Given the description of an element on the screen output the (x, y) to click on. 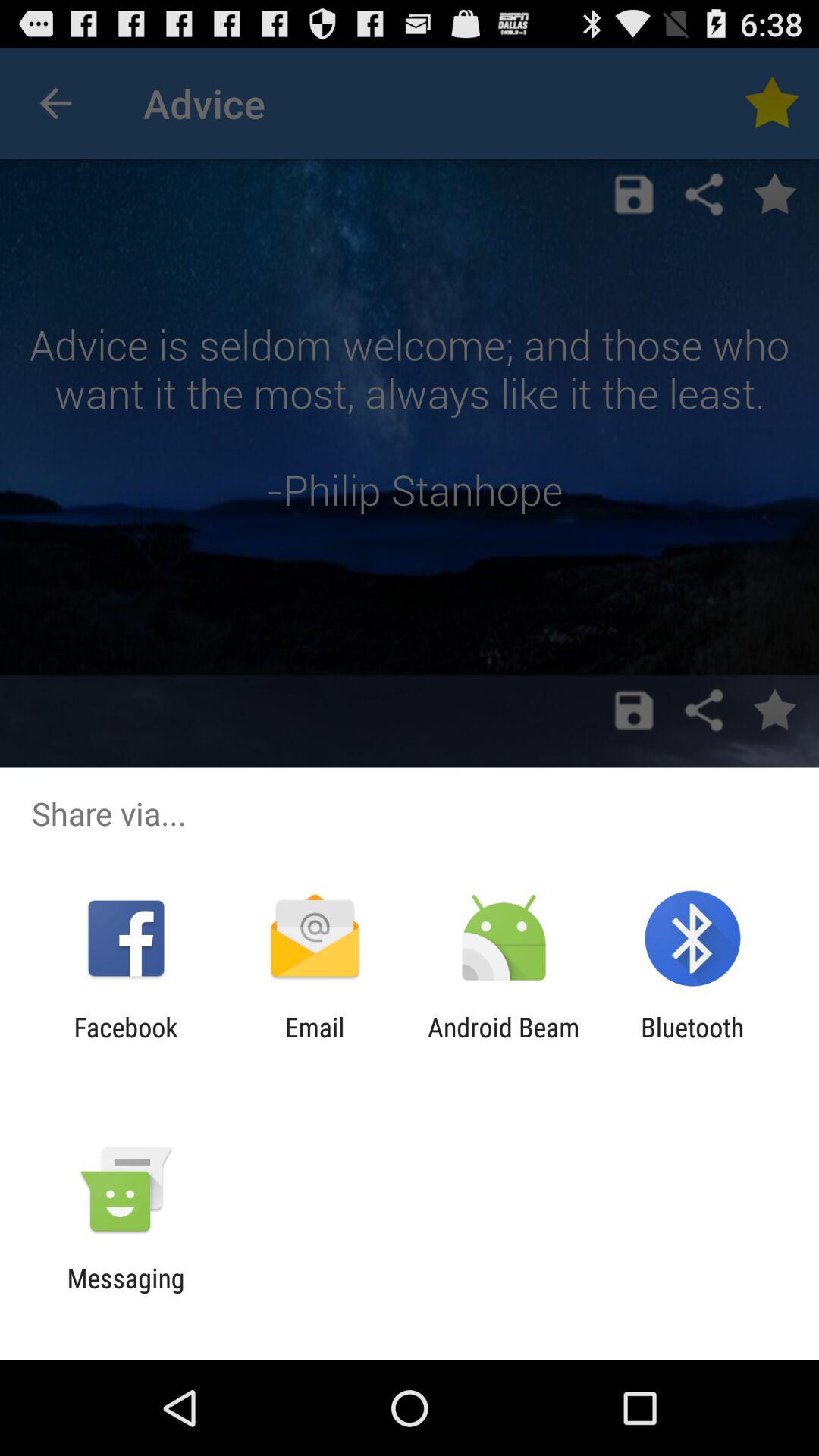
jump until the bluetooth item (691, 1042)
